Given the description of an element on the screen output the (x, y) to click on. 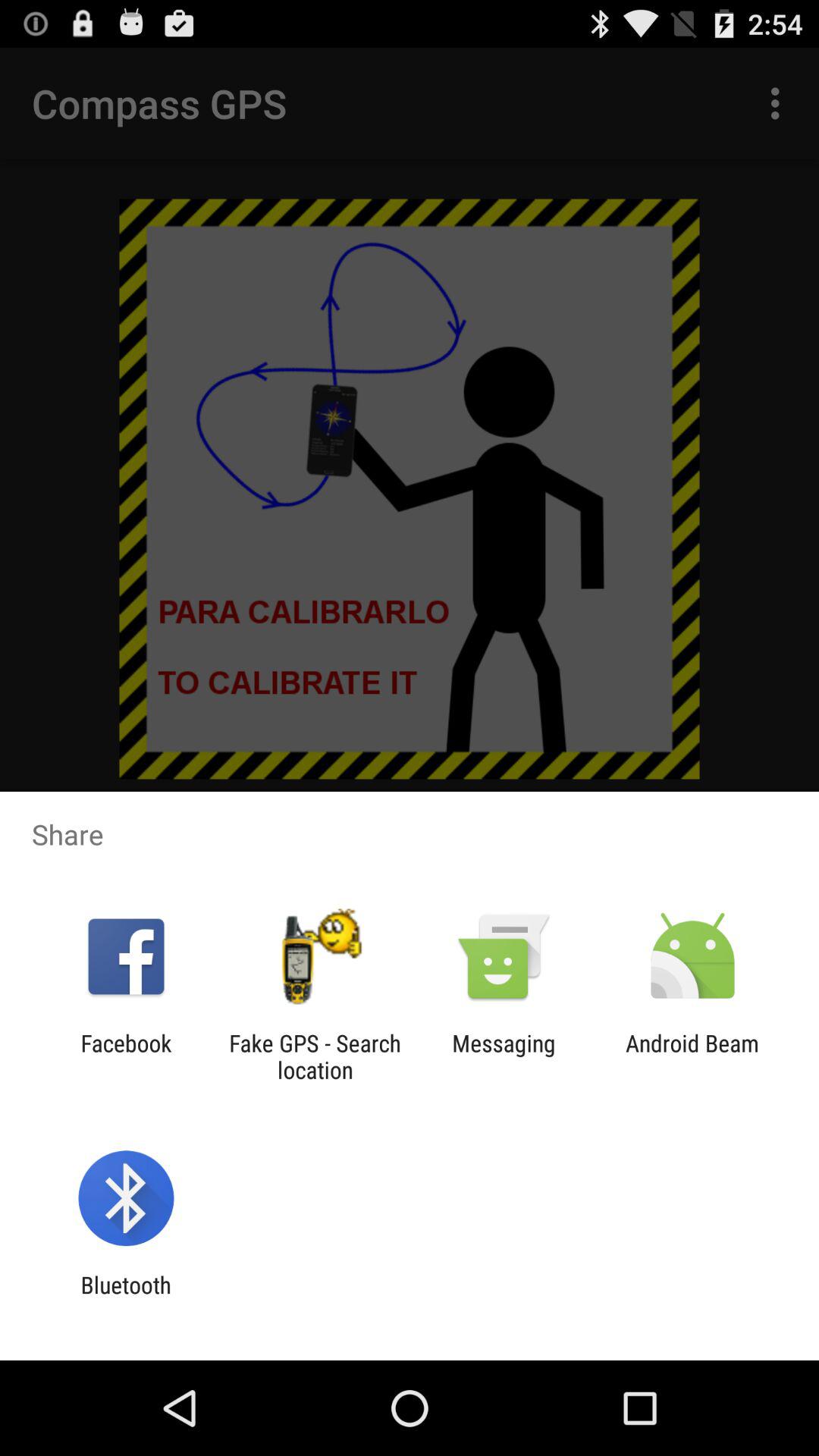
open the icon next to the messaging icon (692, 1056)
